Given the description of an element on the screen output the (x, y) to click on. 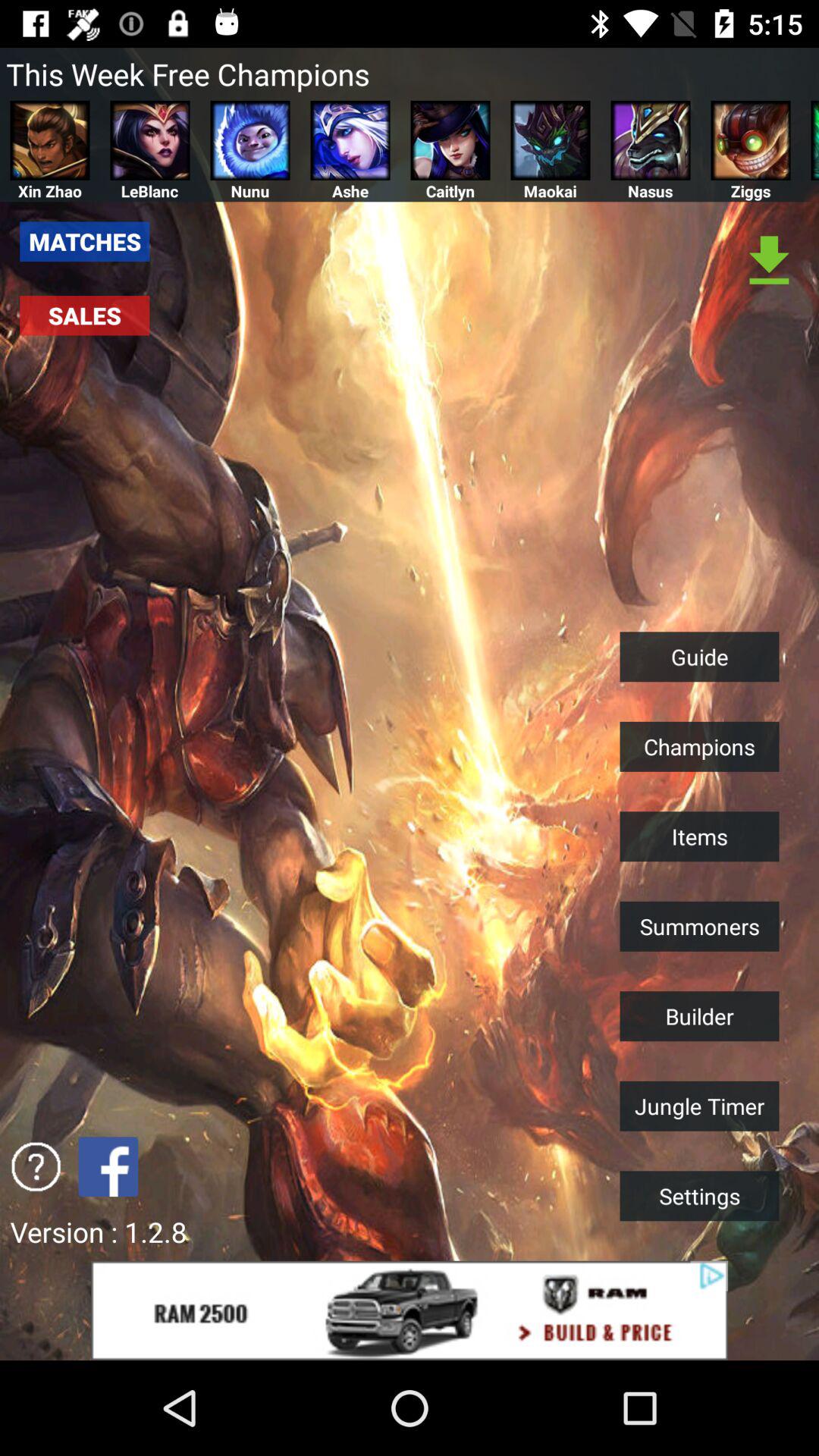
click the add (409, 1310)
